Given the description of an element on the screen output the (x, y) to click on. 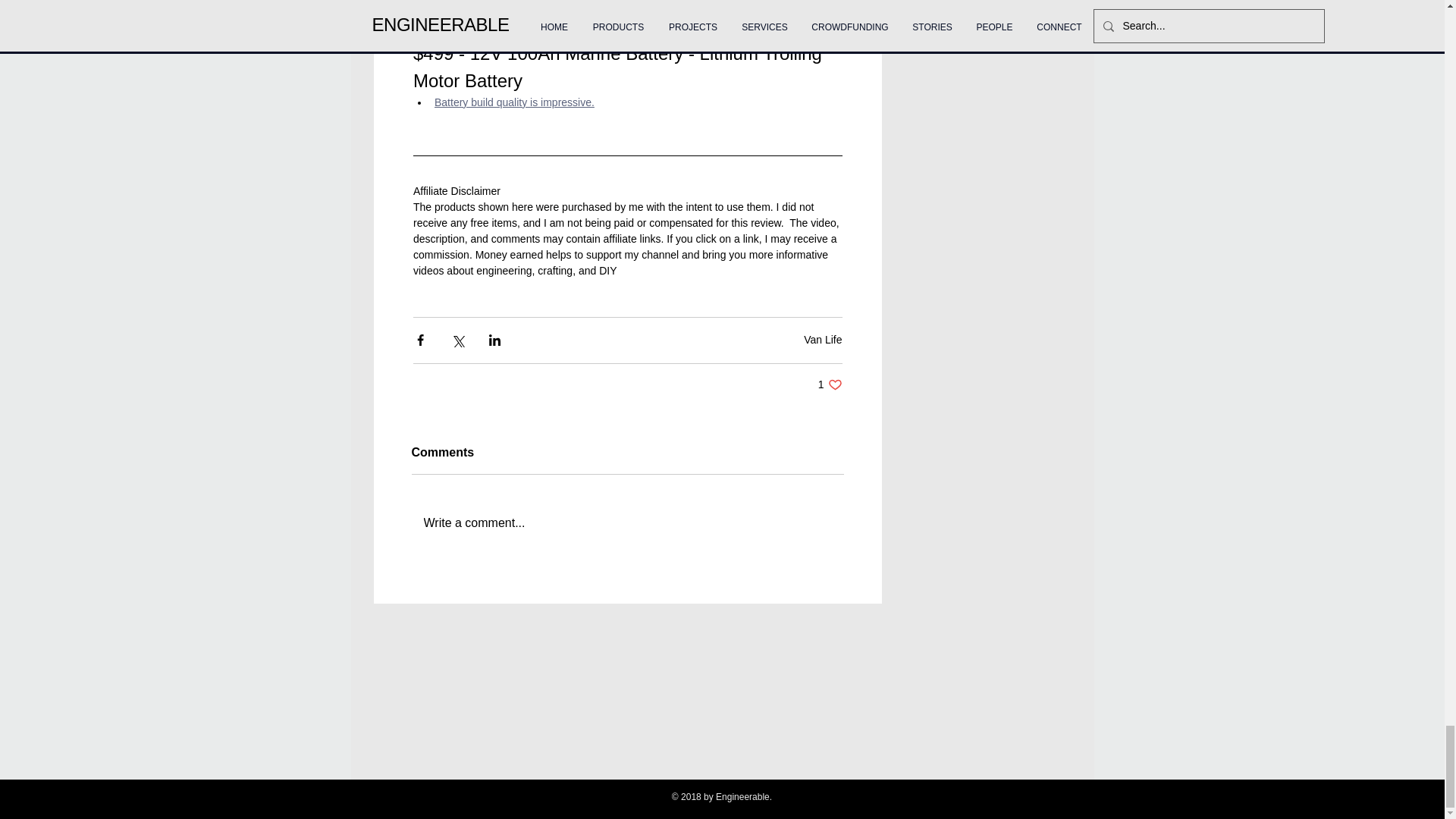
Battery build quality is impressive. (513, 102)
Write a comment... (626, 523)
Van Life (830, 384)
